Given the description of an element on the screen output the (x, y) to click on. 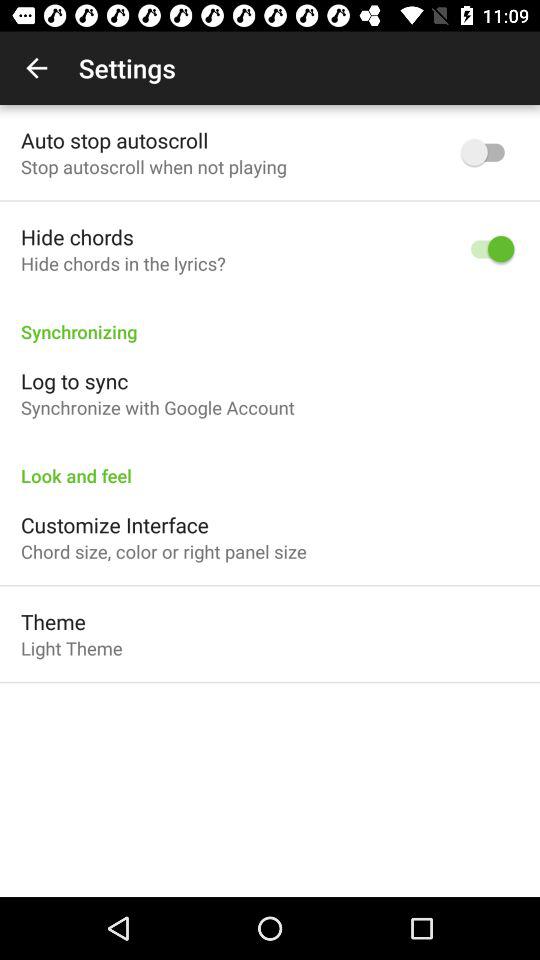
scroll until the synchronize with google item (157, 407)
